Given the description of an element on the screen output the (x, y) to click on. 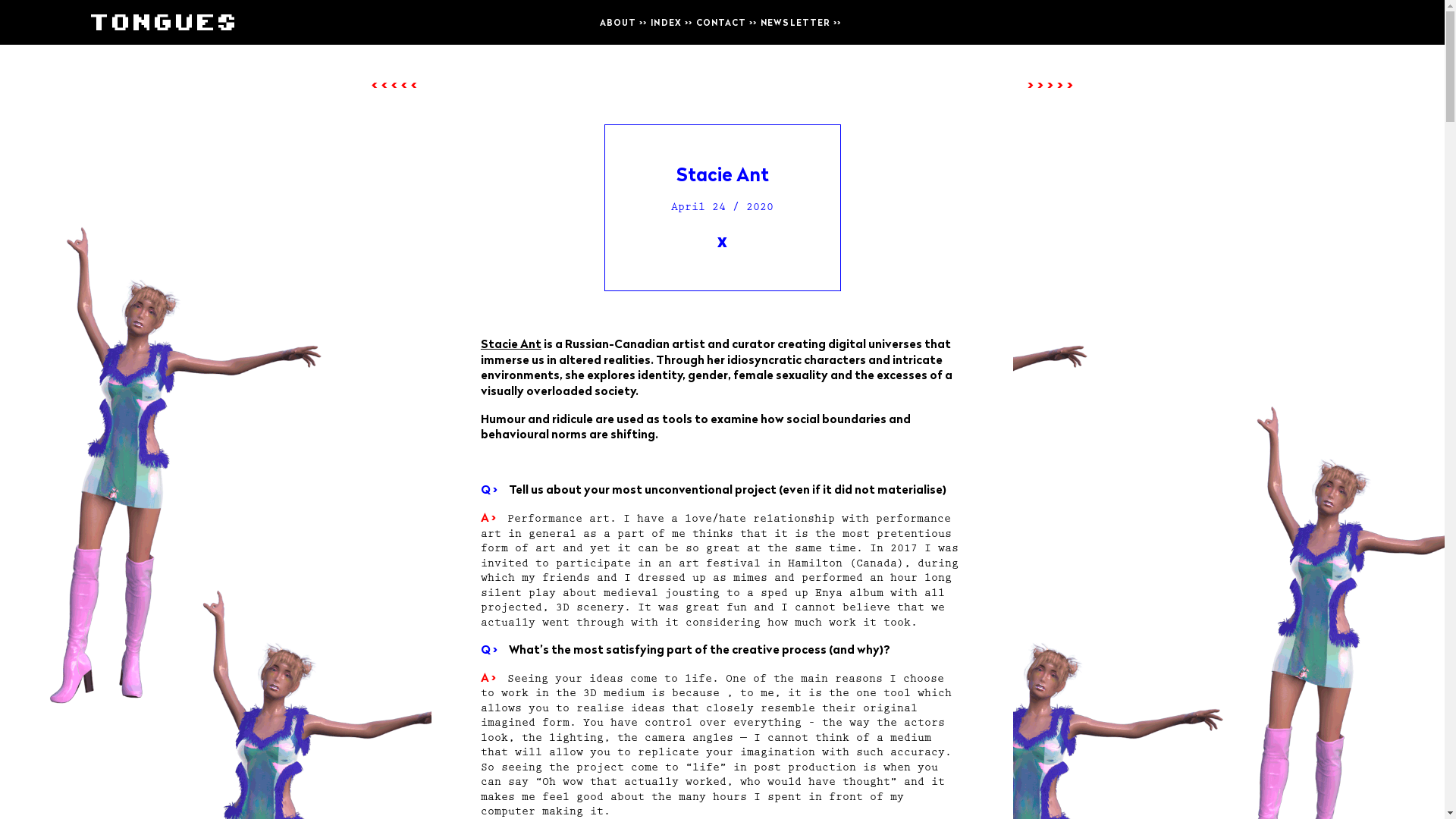
x Element type: text (722, 240)
ABOUT >> Element type: text (623, 21)
CONTACT >> Element type: text (726, 21)
> > > > > Element type: text (1050, 84)
< < < < < Element type: text (394, 84)
Stacie Ant Element type: text (510, 343)
INDEX >> Element type: text (671, 21)
